Given the description of an element on the screen output the (x, y) to click on. 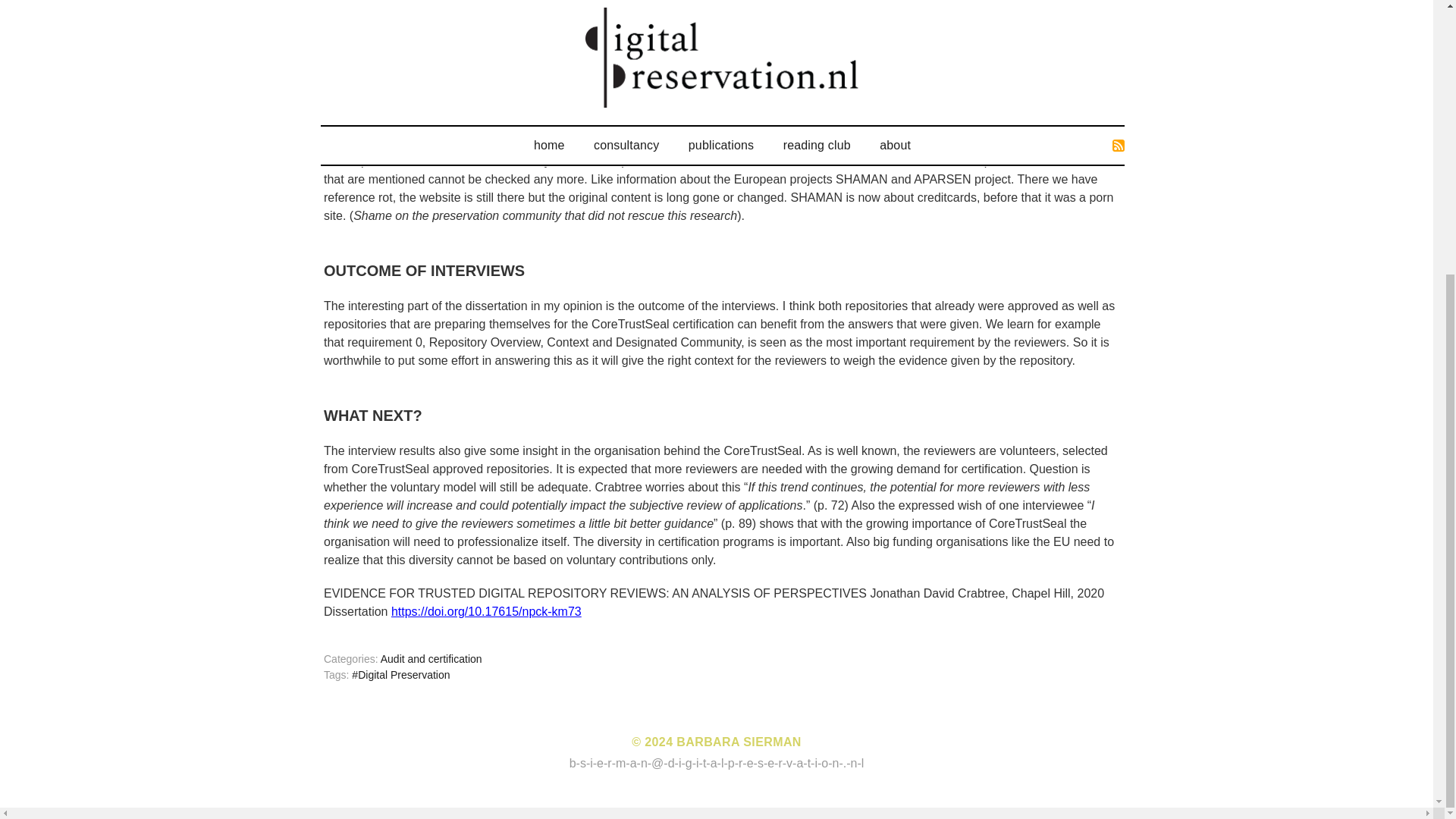
in his dissertation (438, 15)
Audit and certification (430, 658)
Audit and certification (430, 658)
Digital Preservation (400, 674)
